Given the description of an element on the screen output the (x, y) to click on. 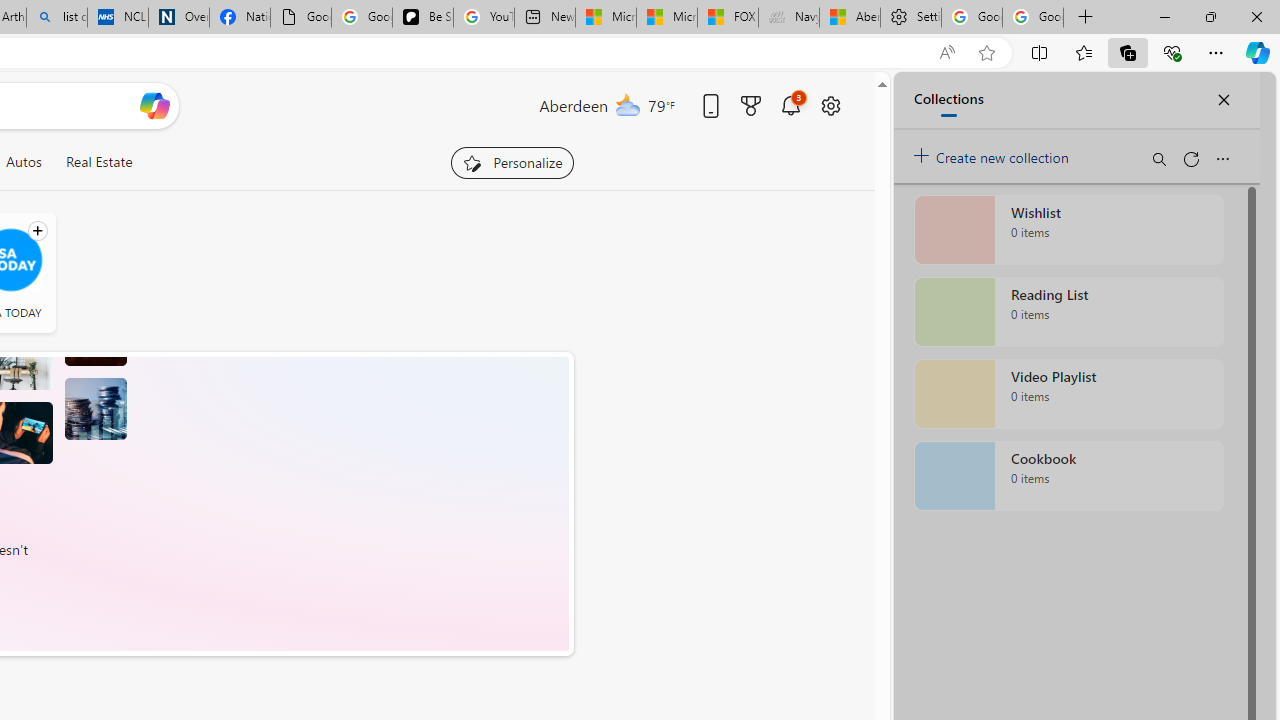
Microsoft rewards (749, 105)
Notifications (790, 105)
Google Analytics Opt-out Browser Add-on Download Page (301, 17)
Aberdeen, Hong Kong SAR hourly forecast | Microsoft Weather (850, 17)
Microsoft Start (667, 17)
